Given the description of an element on the screen output the (x, y) to click on. 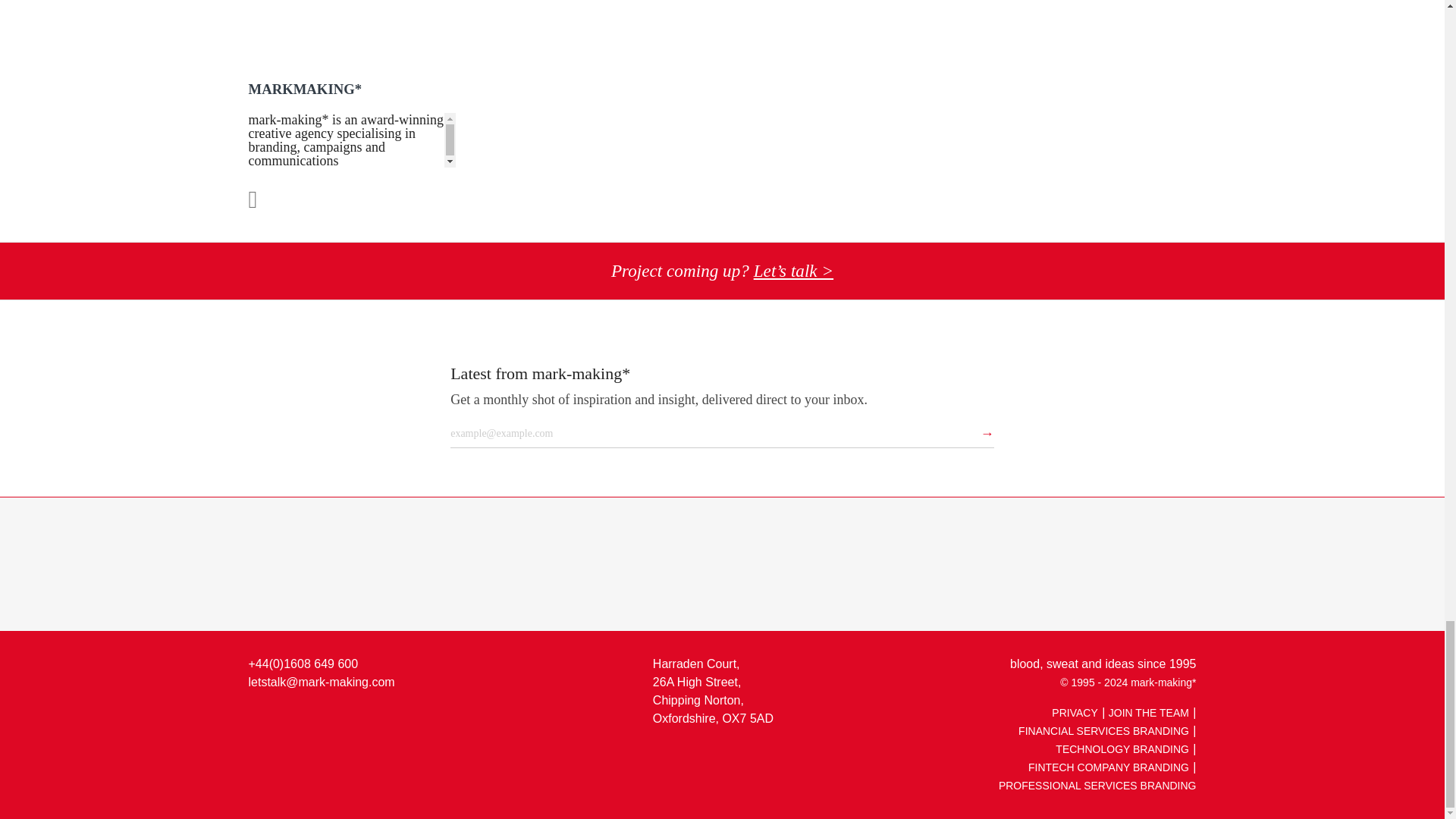
PRIVACY (1074, 712)
LINKEDIN (261, 716)
TWITTER (294, 716)
FINANCIAL SERVICES BRANDING (1103, 730)
TECHNOLOGY BRANDING (1122, 748)
FINTECH COMPANY BRANDING (1108, 767)
FACEBOOK (326, 716)
twitter (294, 716)
facebook (326, 716)
PROFESSIONAL SERVICES BRANDING (1097, 785)
linkedin (261, 716)
JOIN THE TEAM (1148, 712)
